Given the description of an element on the screen output the (x, y) to click on. 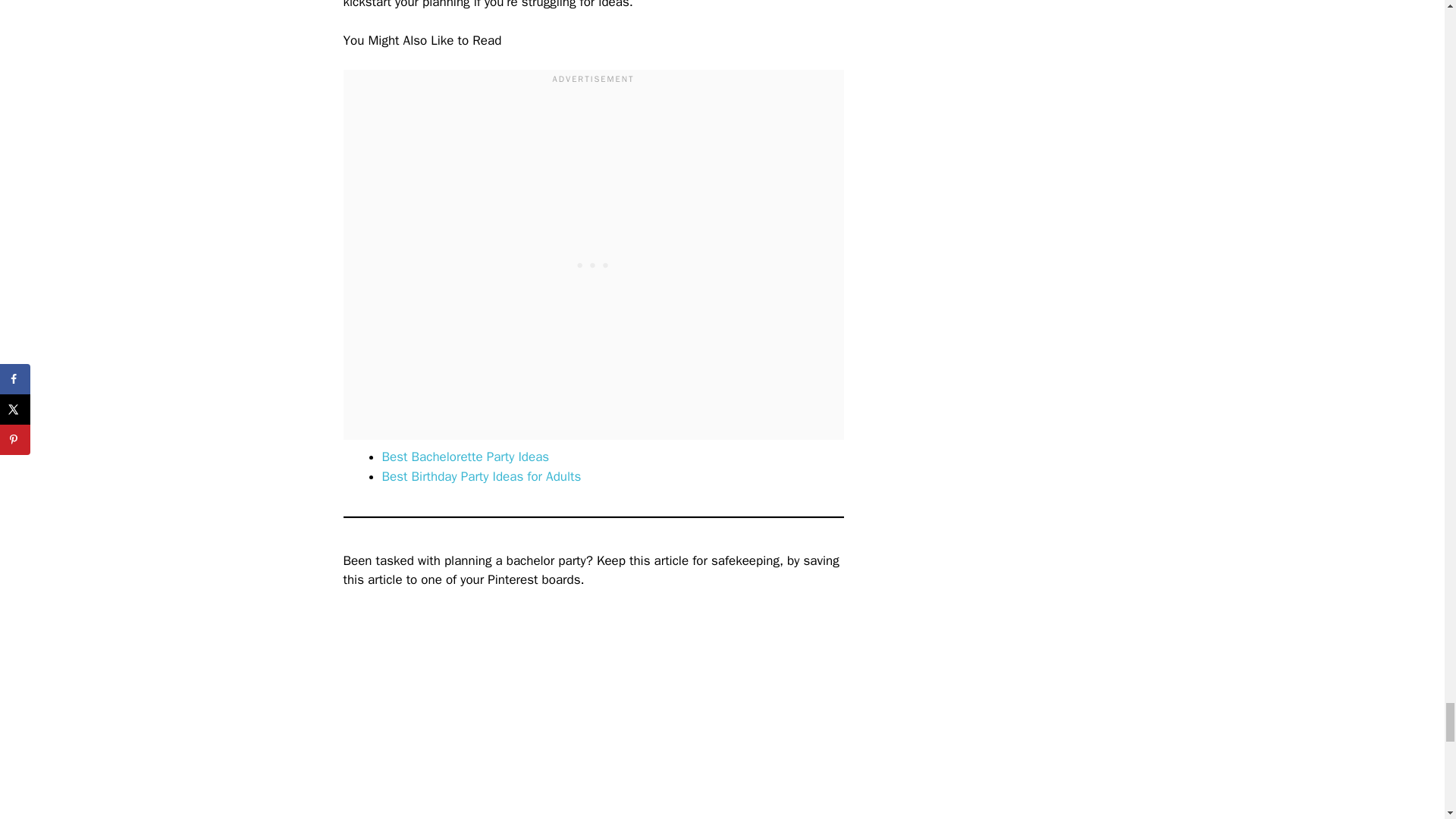
Best Bachelorette Party Ideas (465, 456)
Best Birthday Party Ideas for Adults (480, 476)
